Given the description of an element on the screen output the (x, y) to click on. 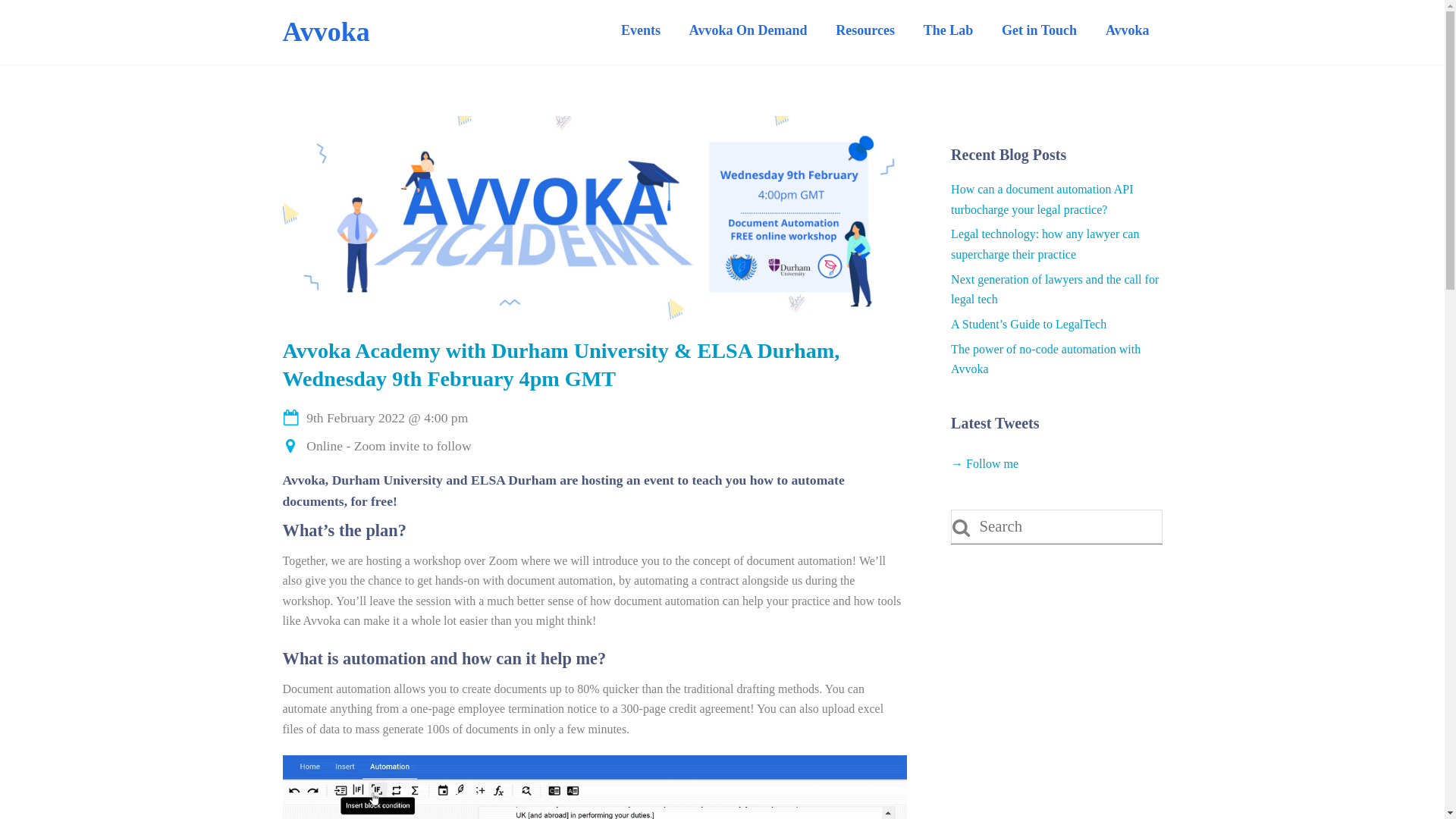
Get in Touch (1038, 30)
Avvoka (325, 31)
Avvoka (325, 31)
Search (1055, 526)
Events (640, 30)
Resources (864, 30)
The power of no-code automation with Avvoka (1045, 359)
The Lab (948, 30)
Avvoka (1127, 30)
Avvoka On Demand (749, 30)
Next generation of lawyers and the call for legal tech (1054, 288)
